Given the description of an element on the screen output the (x, y) to click on. 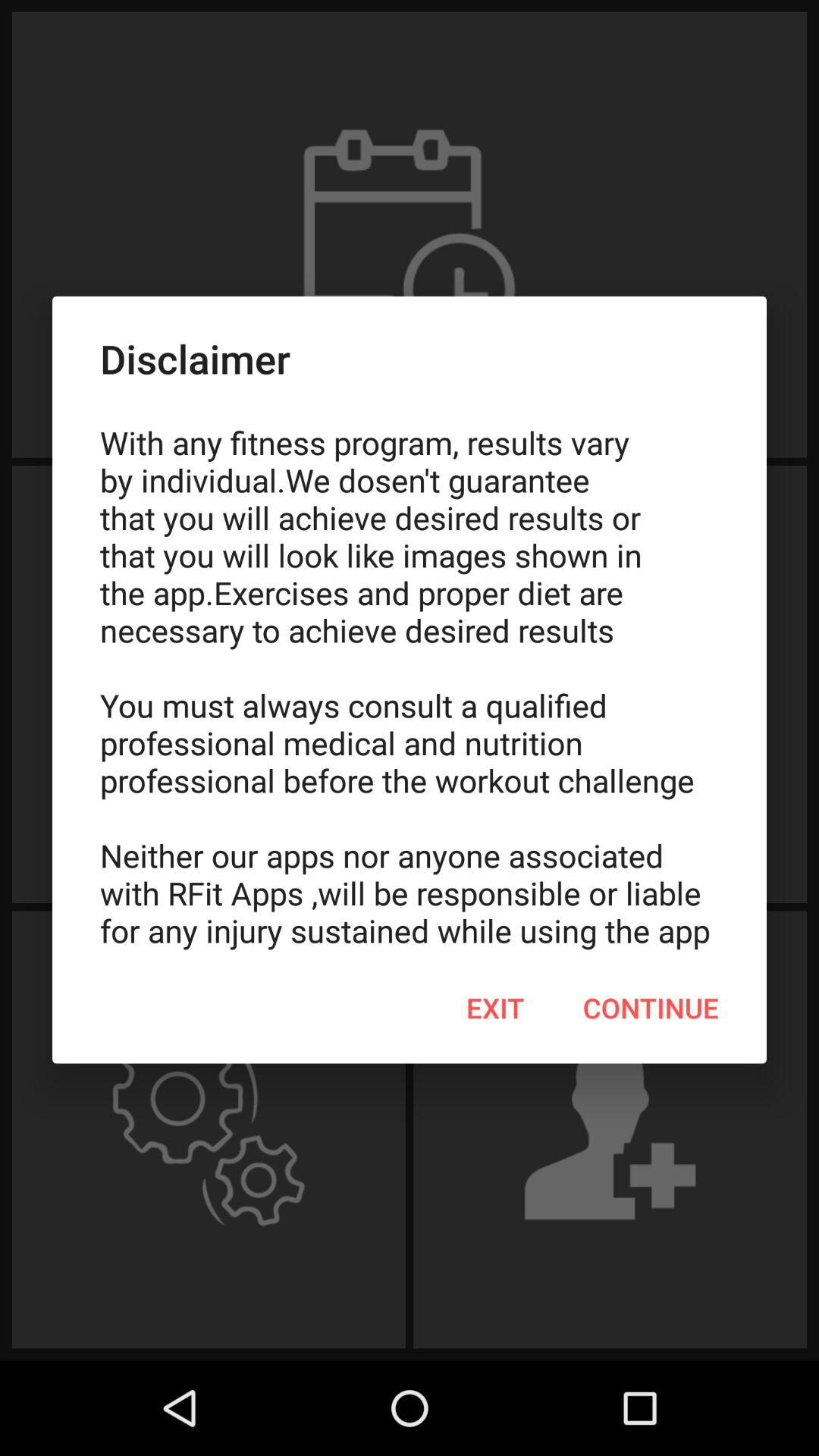
open item to the right of exit item (650, 1007)
